Given the description of an element on the screen output the (x, y) to click on. 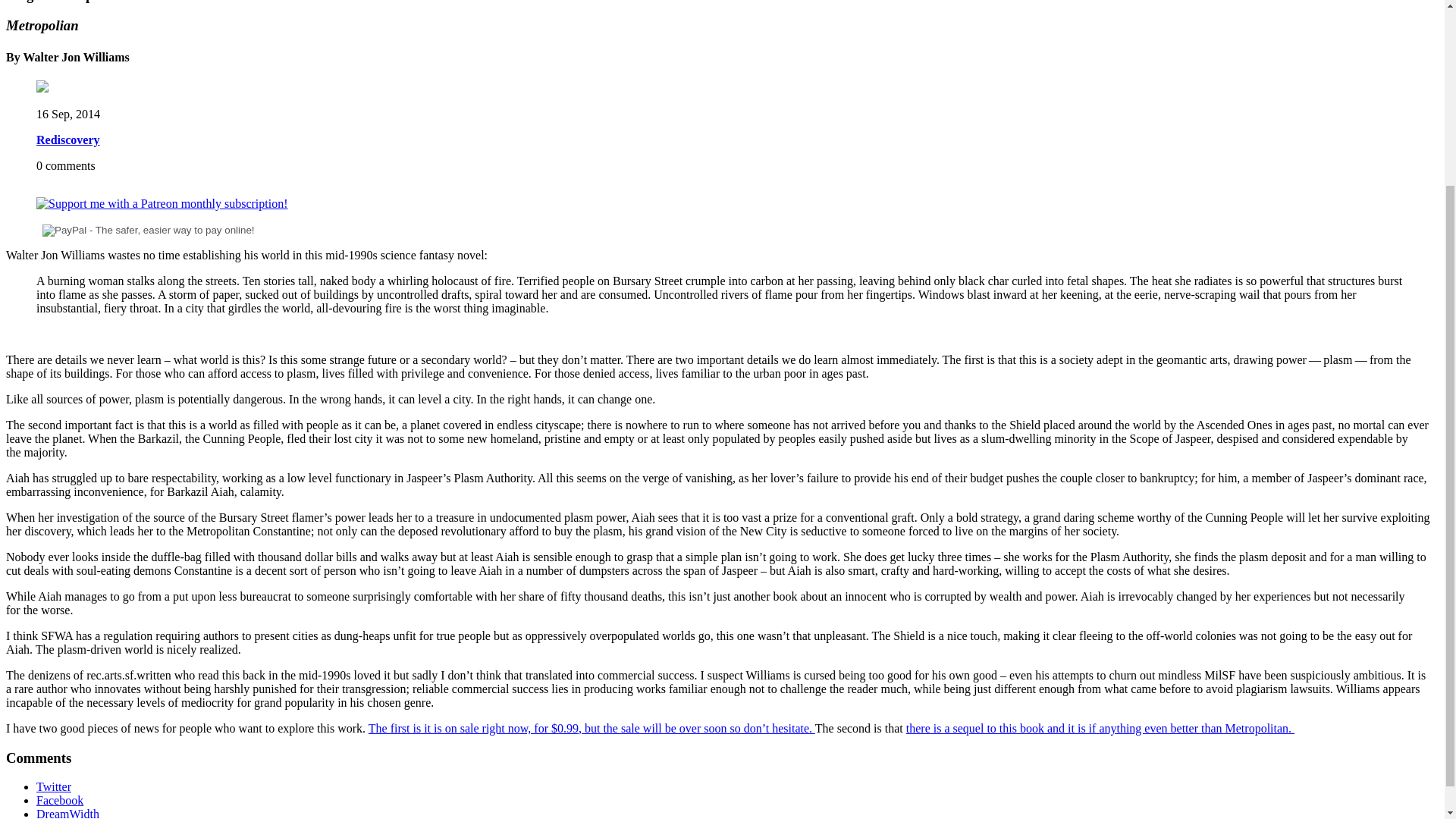
Twitter (53, 786)
Patreon (162, 203)
Rediscovery (68, 139)
Facebook (59, 799)
